Given the description of an element on the screen output the (x, y) to click on. 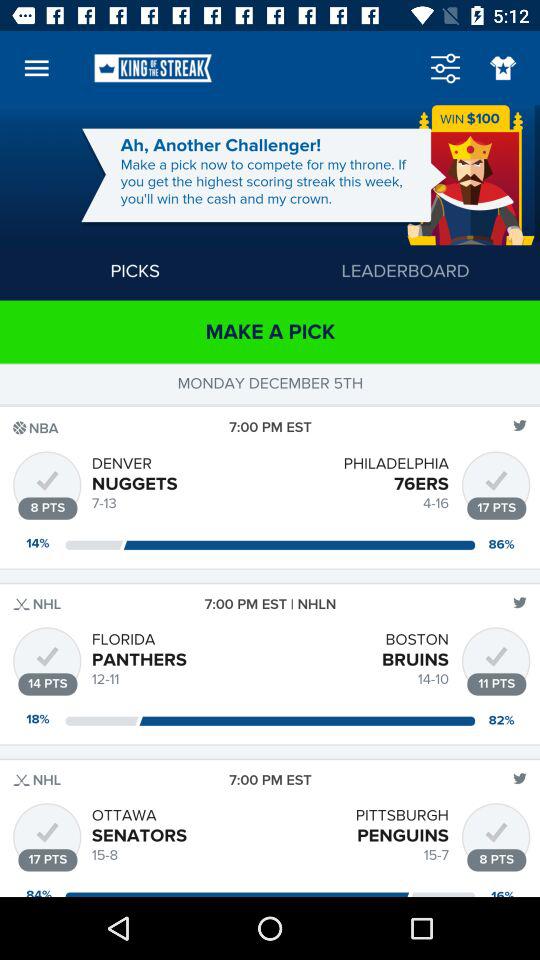
click the detail option (445, 68)
